Given the description of an element on the screen output the (x, y) to click on. 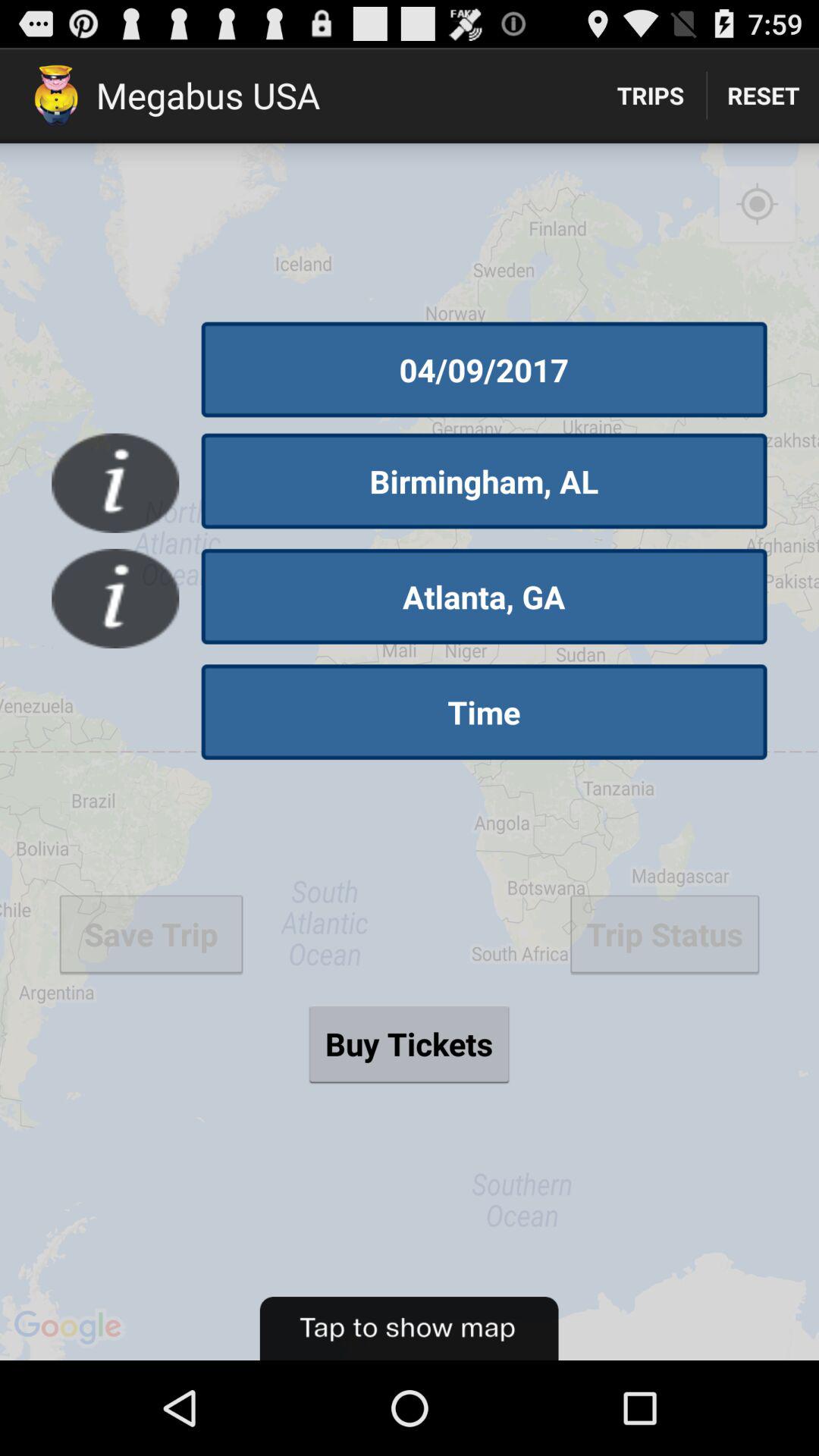
select button next to the birmingham, al item (115, 482)
